Given the description of an element on the screen output the (x, y) to click on. 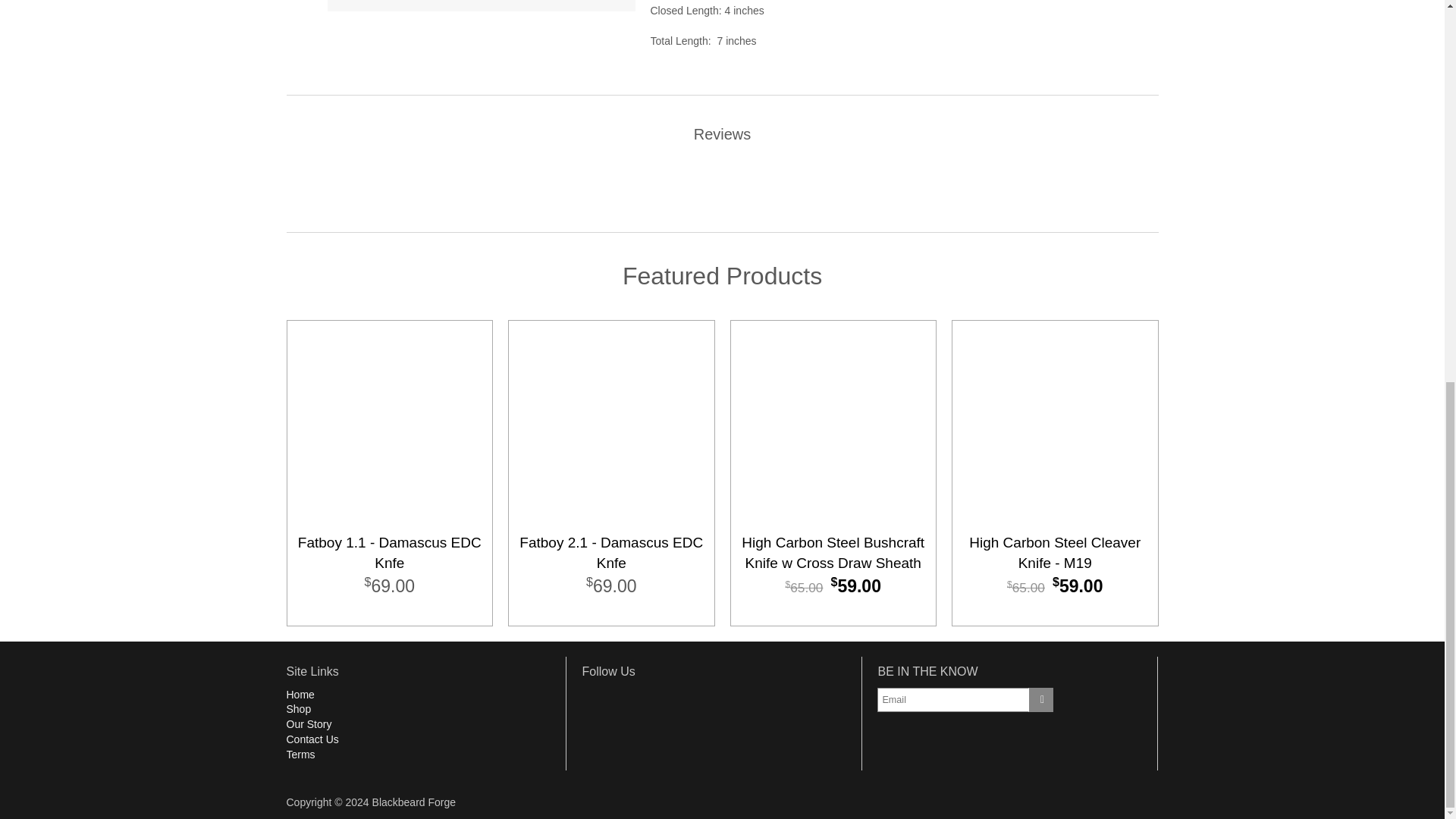
Shop (298, 708)
Contact Us (312, 739)
Home (300, 693)
Terms (300, 754)
Our Story (308, 724)
